Given the description of an element on the screen output the (x, y) to click on. 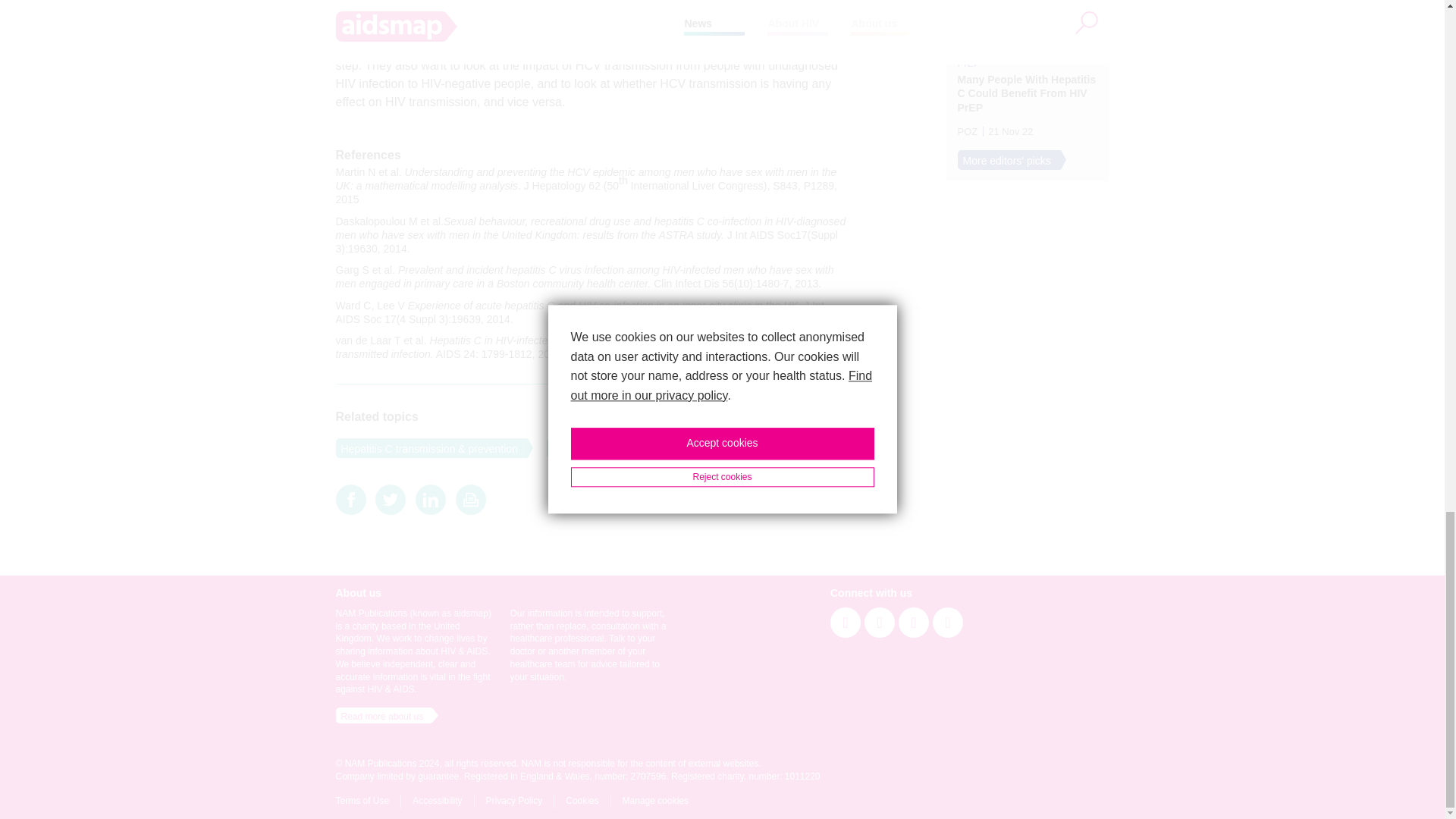
Hepatitis C treatment (599, 447)
Print (470, 499)
Facebook (349, 499)
Twitter (390, 499)
LinkedIn (429, 499)
